Given the description of an element on the screen output the (x, y) to click on. 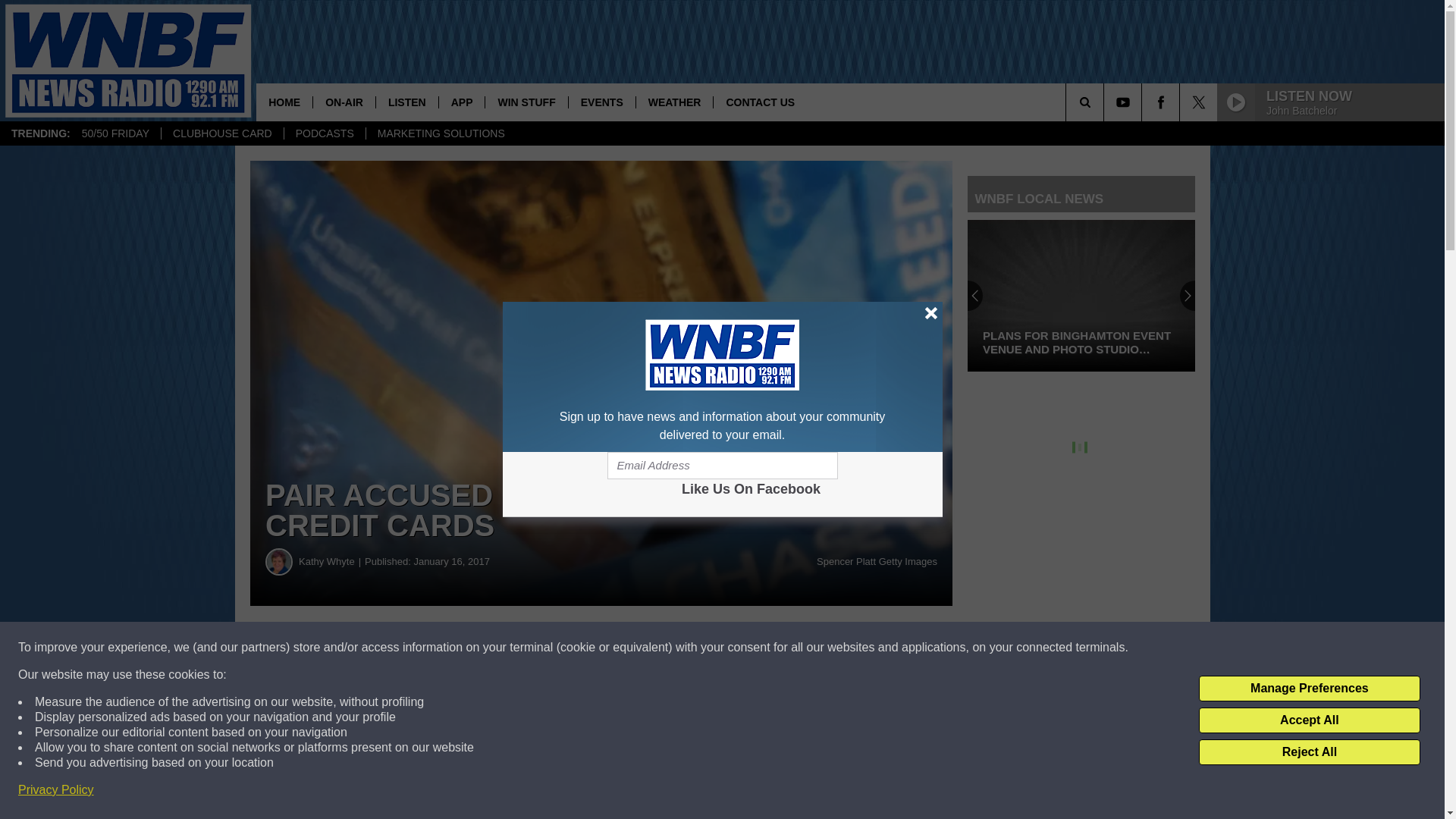
EVENTS (600, 102)
WIN STUFF (525, 102)
SEARCH (1106, 102)
ON-AIR (344, 102)
Privacy Policy (55, 789)
APP (461, 102)
HOME (284, 102)
Accept All (1309, 720)
PODCASTS (324, 133)
CONTACT US (759, 102)
LISTEN (406, 102)
Share on Twitter (741, 647)
SEARCH (1106, 102)
CLUBHOUSE CARD (221, 133)
Share on Facebook (460, 647)
